Given the description of an element on the screen output the (x, y) to click on. 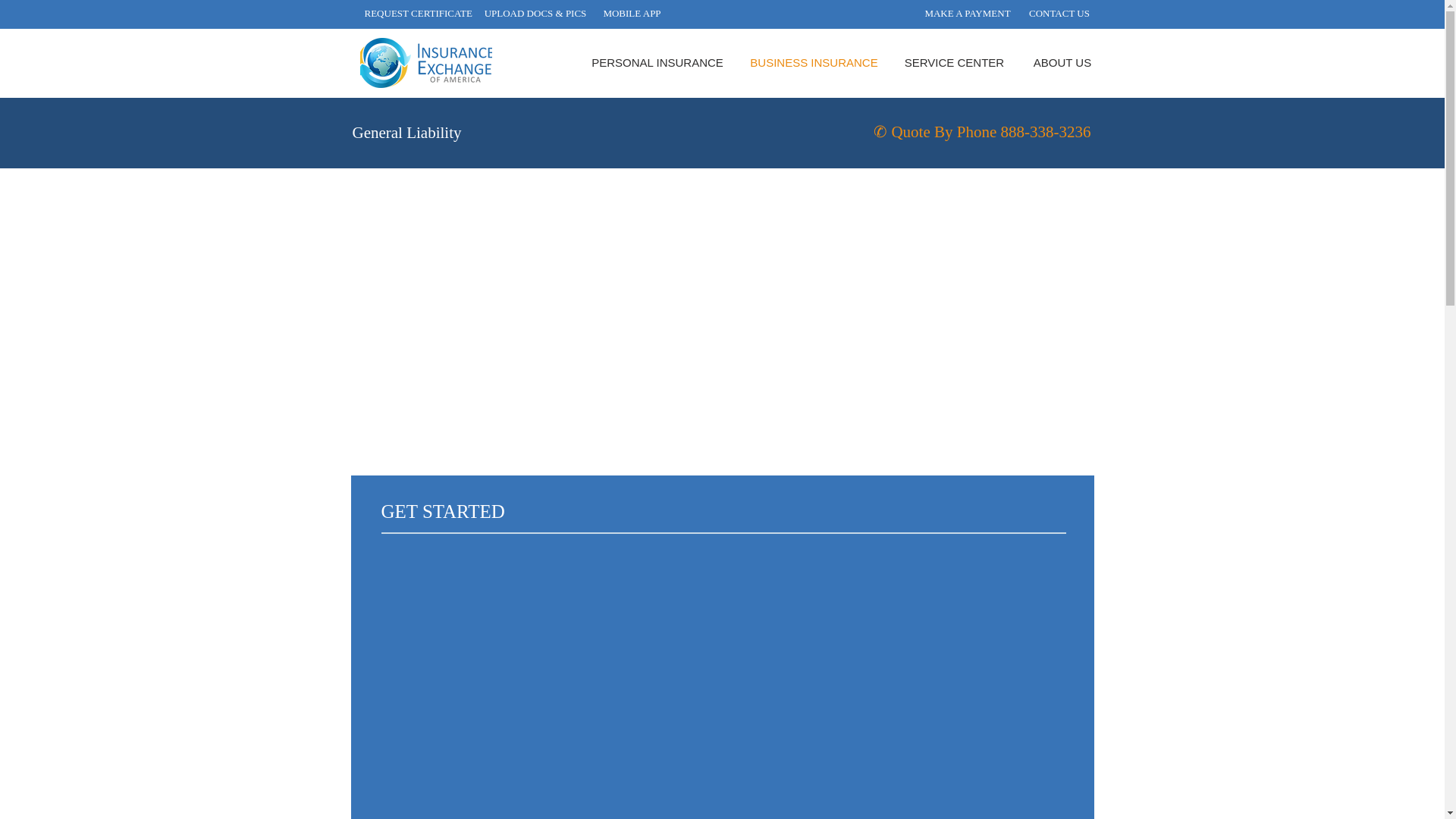
REQUEST CERTIFICATE (417, 13)
BUSINESS INSURANCE (813, 62)
MAKE A PAYMENT (966, 13)
PERSONAL INSURANCE (657, 62)
CONTACT US (1058, 13)
MOBILE APP (631, 13)
